Given the description of an element on the screen output the (x, y) to click on. 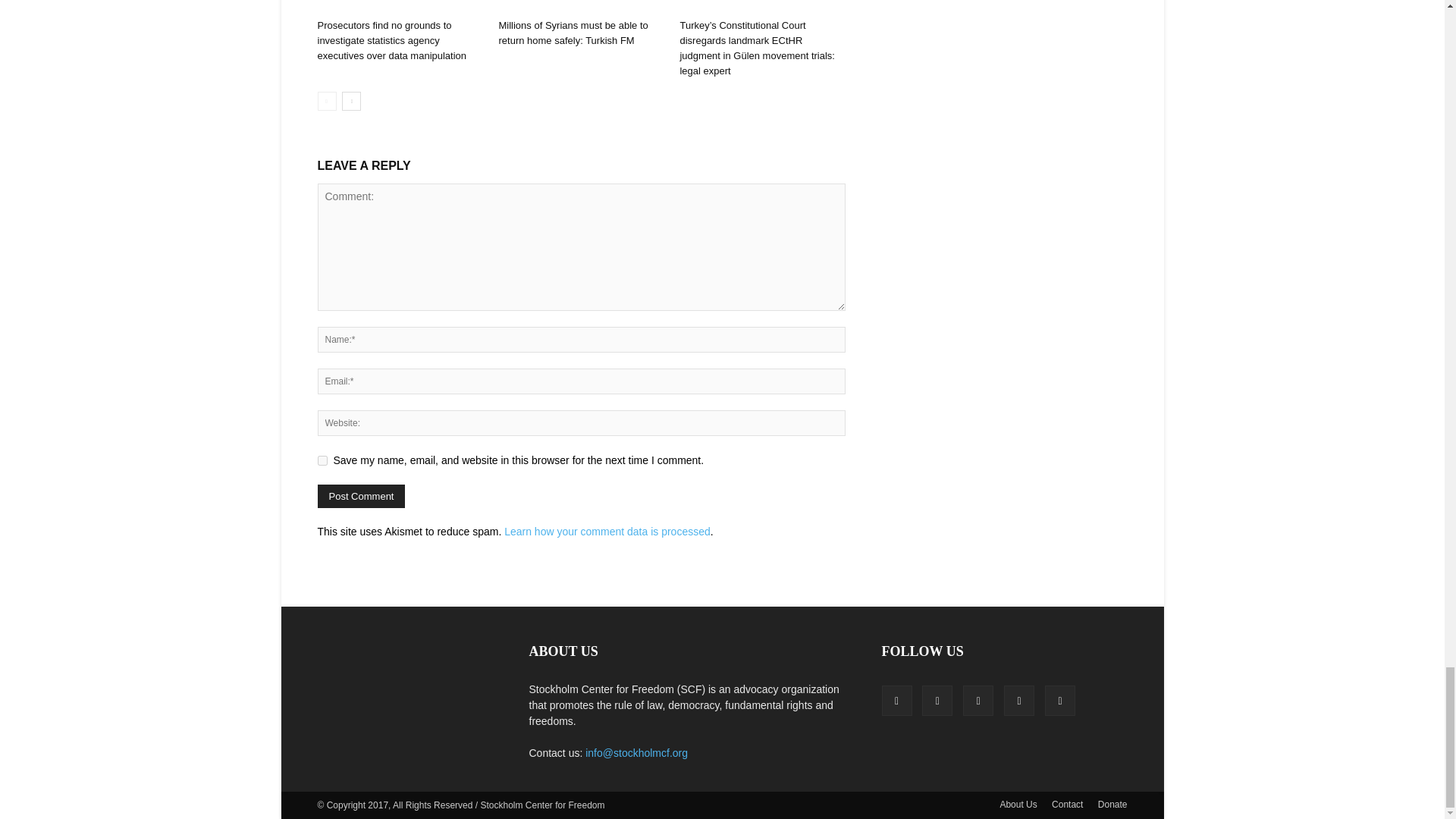
Post Comment (360, 495)
yes (321, 460)
